Given the description of an element on the screen output the (x, y) to click on. 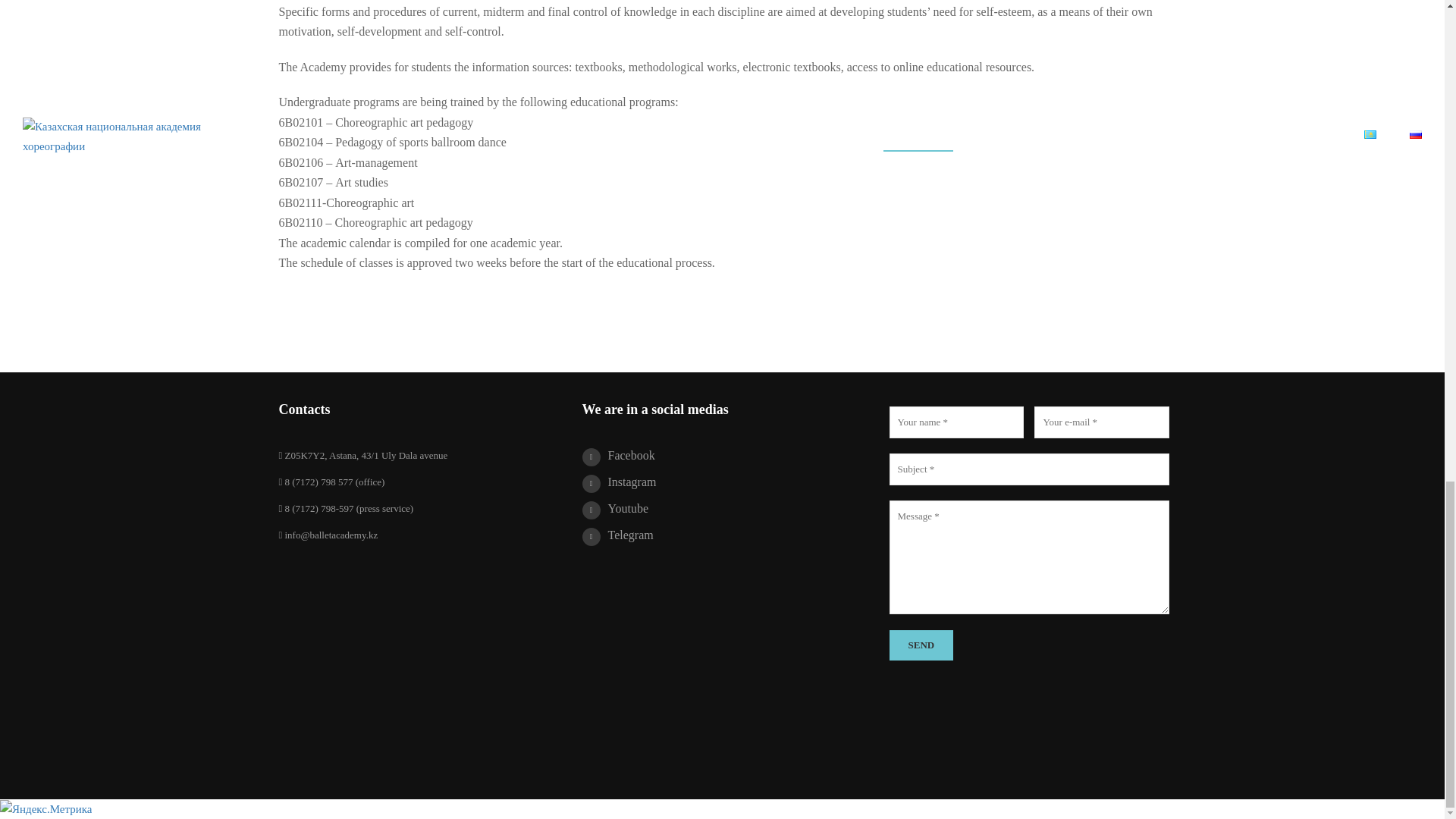
Send (920, 644)
